Given the description of an element on the screen output the (x, y) to click on. 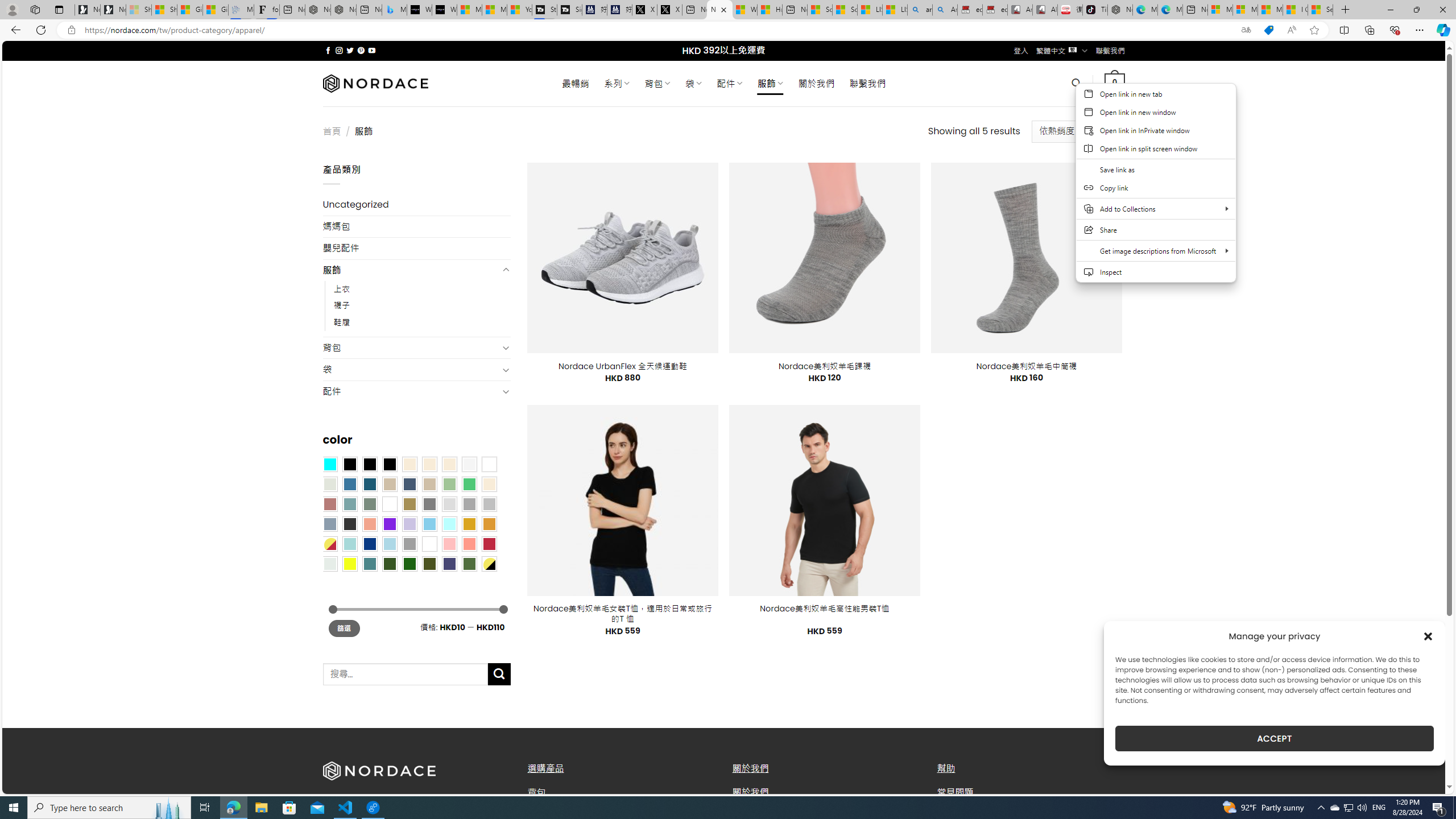
Cream (449, 464)
Open link in InPrivate window (1155, 130)
